Given the description of an element on the screen output the (x, y) to click on. 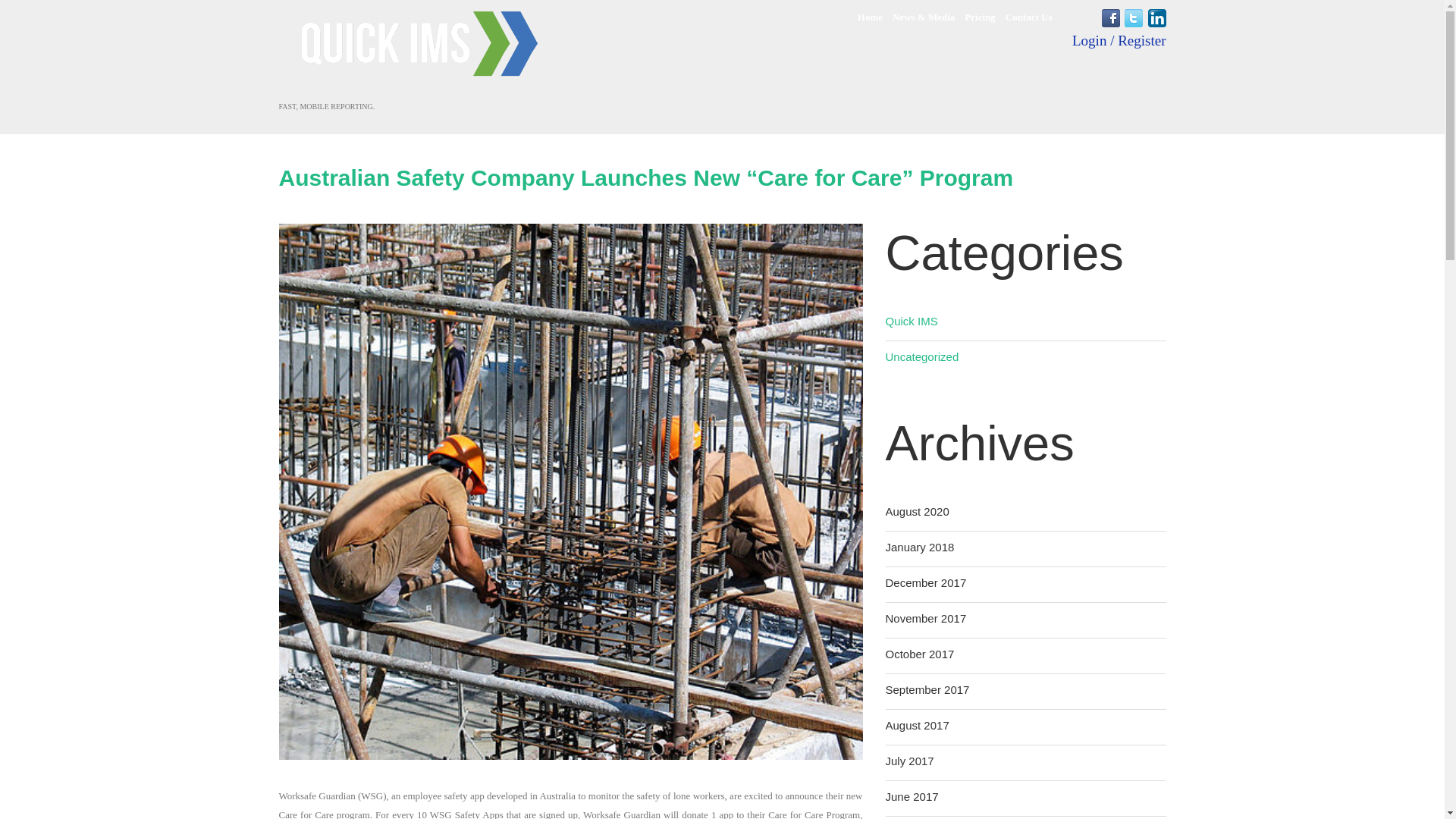
January 2018 (920, 547)
December 2017 (925, 582)
August 2020 (917, 511)
Home (869, 16)
August 2017 (917, 725)
Uncategorized (922, 356)
October 2017 (920, 653)
Quick IMS (911, 321)
November 2017 (925, 618)
Contact Us (1029, 16)
June 2017 (912, 796)
September 2017 (927, 689)
July 2017 (909, 761)
Pricing (978, 16)
Fast, mobile reporting. (419, 52)
